Given the description of an element on the screen output the (x, y) to click on. 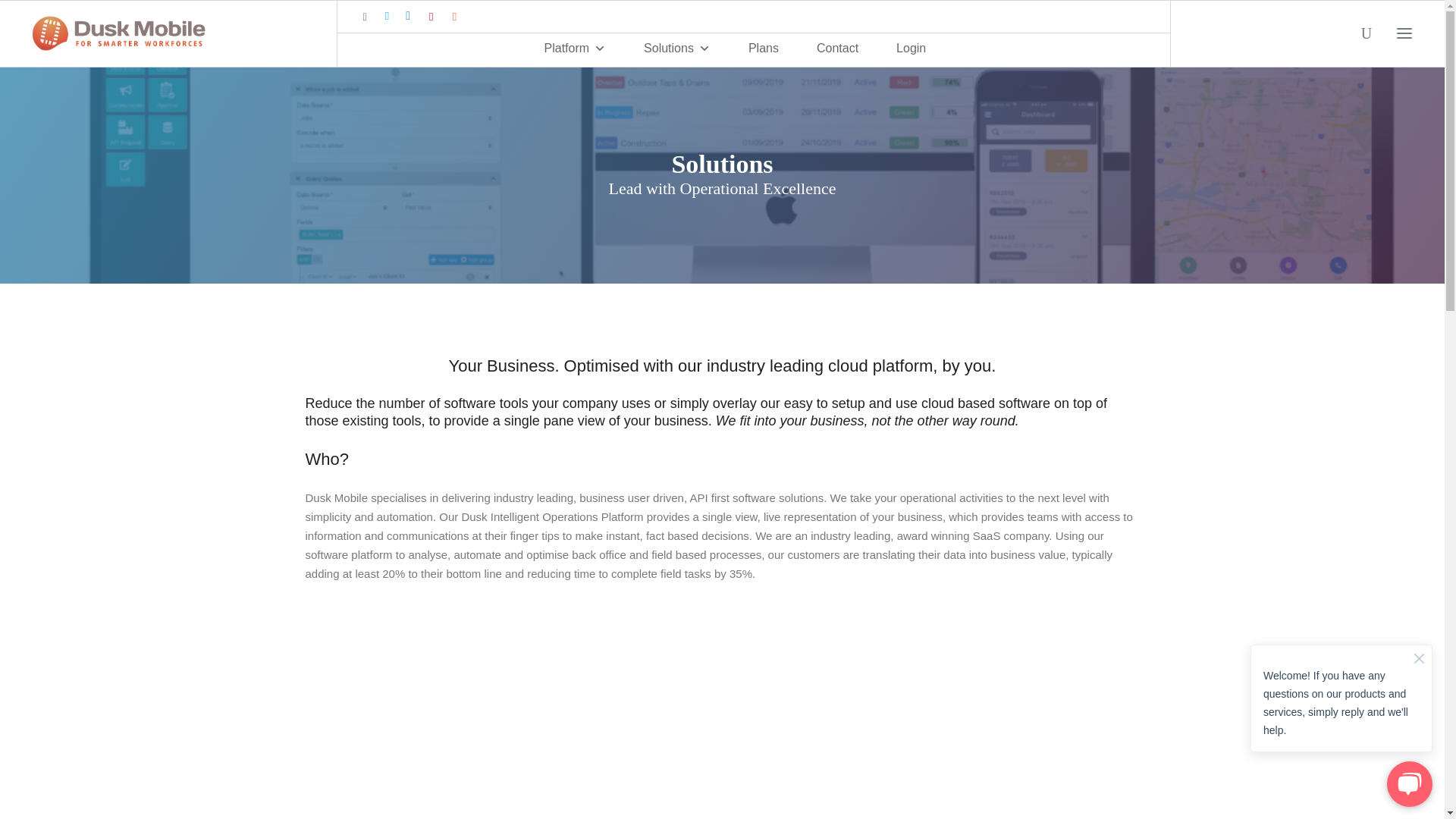
Contact (837, 48)
Plans (763, 48)
Login (911, 48)
Platform (575, 48)
Solutions (676, 48)
